Given the description of an element on the screen output the (x, y) to click on. 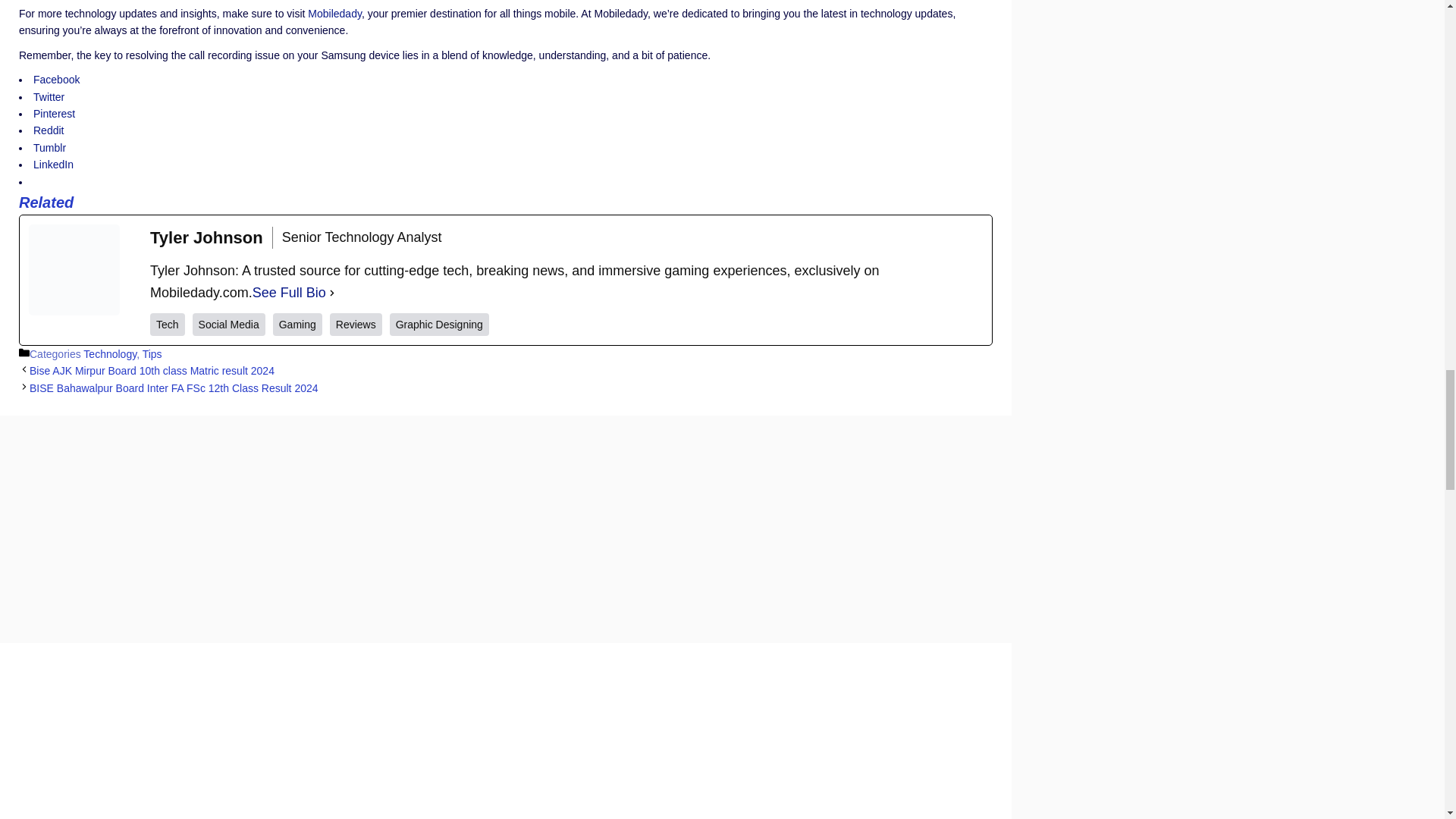
BISE Bahawalpur Board Inter FA FSc 12th Class Result 2024 (173, 387)
Twitter (48, 96)
Click to share on Twitter (48, 96)
Technology (109, 354)
Tips (151, 354)
Reddit (48, 130)
Facebook (56, 79)
Click to share on Facebook (56, 79)
Click to share on Reddit (48, 130)
Click to share on LinkedIn (53, 164)
